Given the description of an element on the screen output the (x, y) to click on. 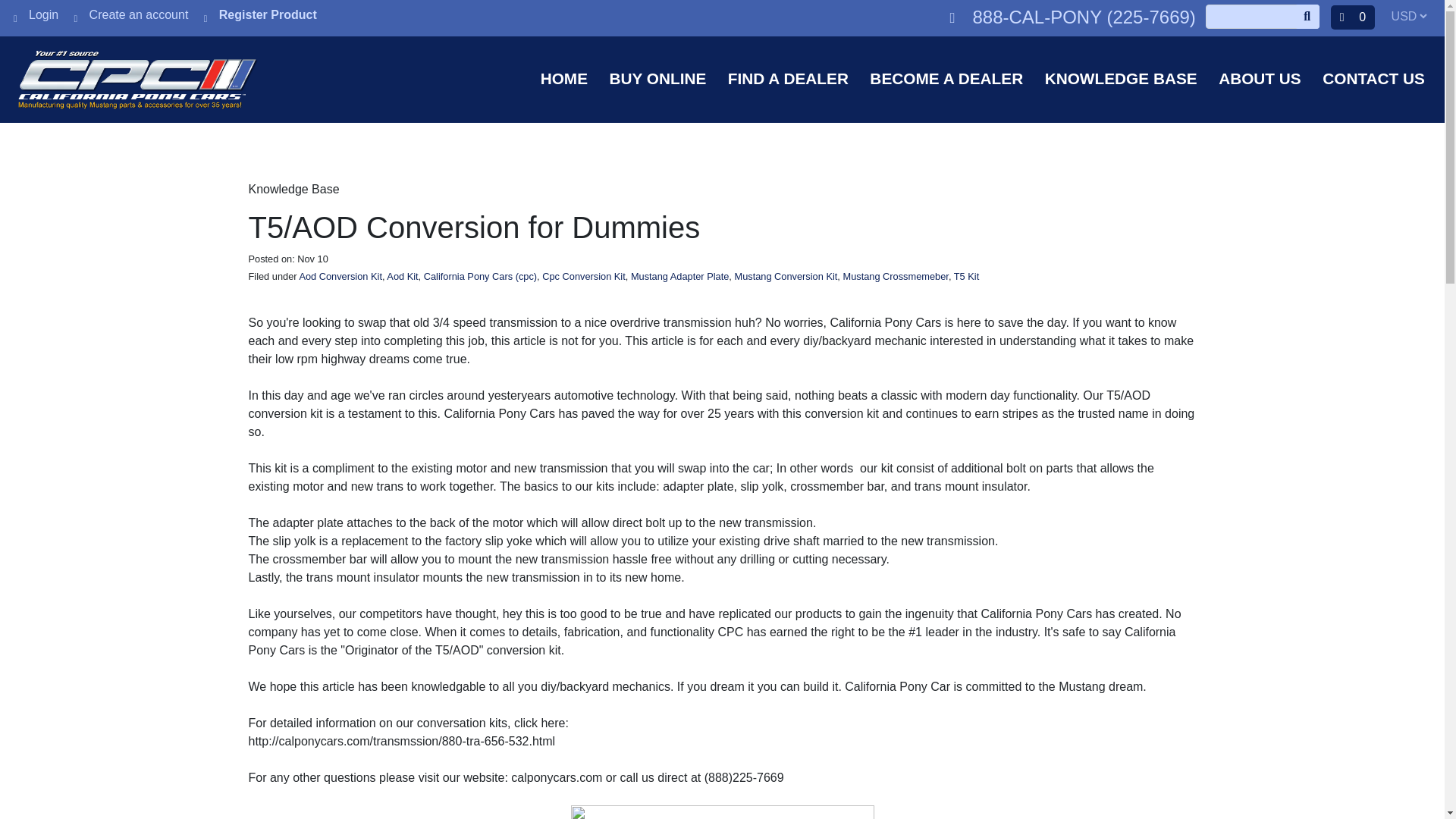
FIND A DEALER (788, 77)
BUY ONLINE (658, 77)
Register Product (260, 14)
Create an account (131, 14)
0 (1352, 16)
CONTACT US (1373, 77)
BECOME A DEALER (946, 77)
ABOUT US (1259, 77)
HOME (564, 77)
KNOWLEDGE BASE (1120, 77)
Login (35, 14)
